Given the description of an element on the screen output the (x, y) to click on. 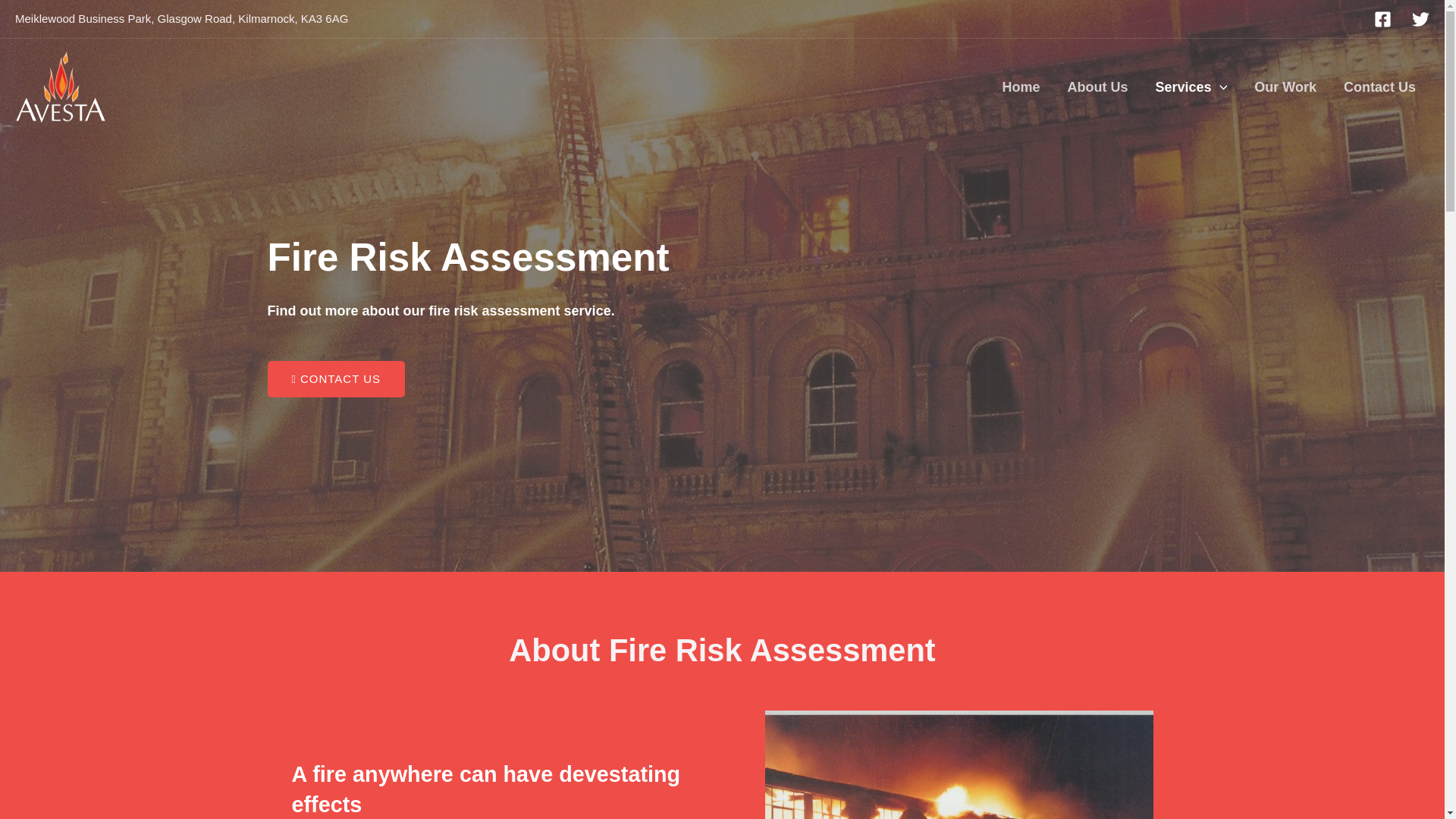
Services (1190, 86)
Our Work (1285, 86)
Home (1020, 86)
CONTACT US (335, 379)
About Us (1096, 86)
Contact Us (1379, 86)
